Given the description of an element on the screen output the (x, y) to click on. 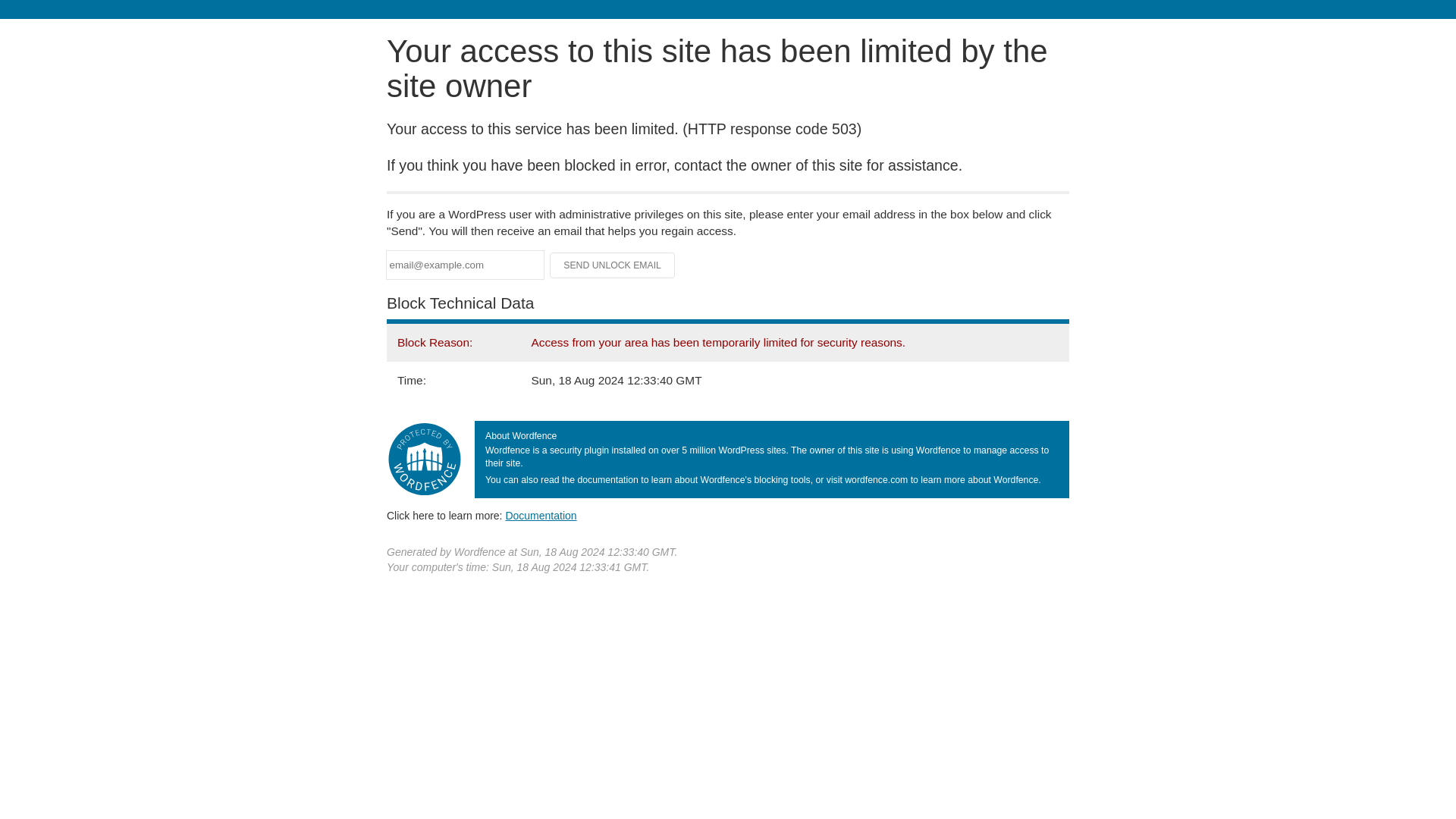
Documentation (540, 515)
Send Unlock Email (612, 265)
Send Unlock Email (612, 265)
